Given the description of an element on the screen output the (x, y) to click on. 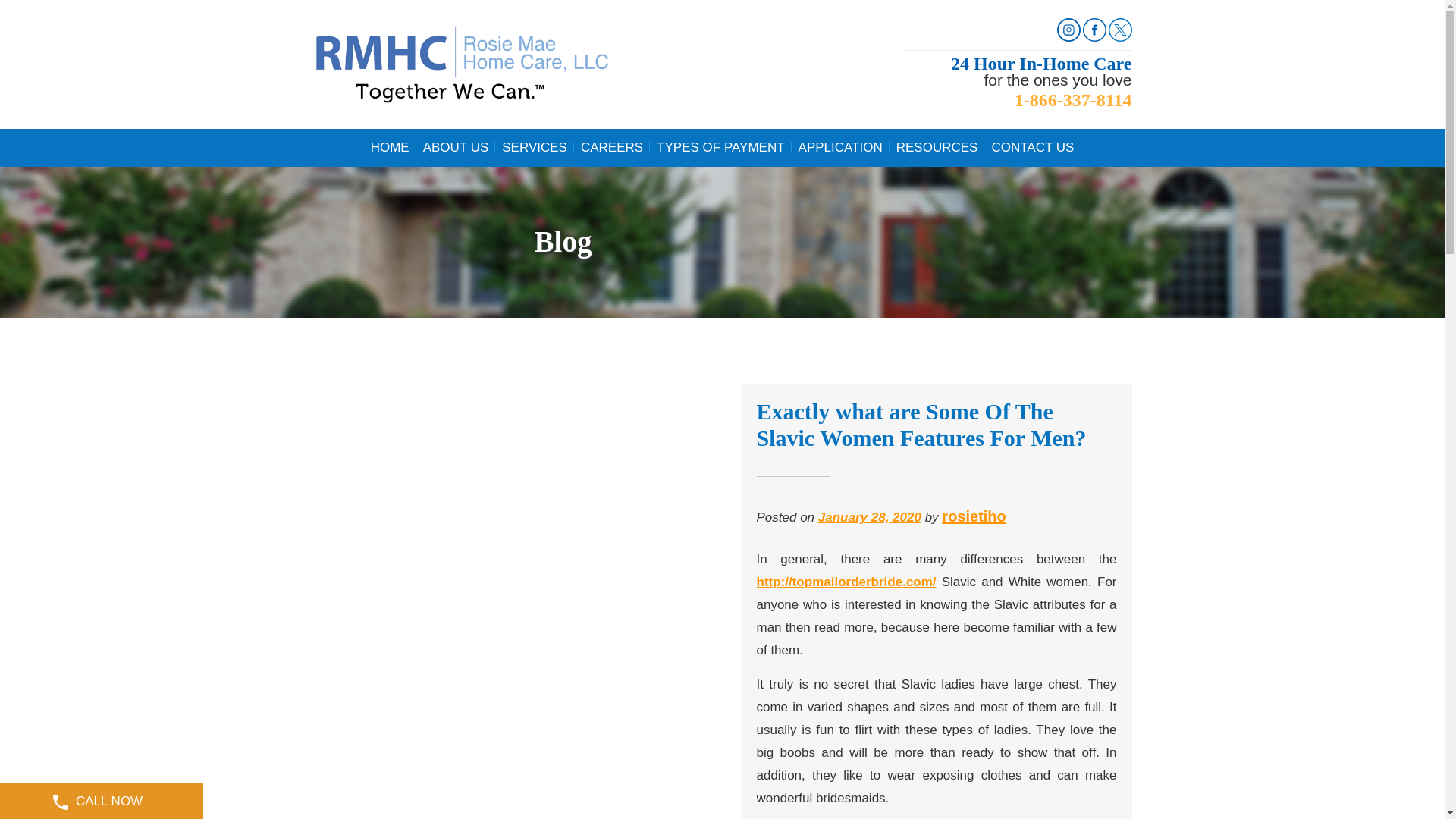
CAREERS (611, 147)
12:00 am (869, 517)
HOME (390, 147)
rosietiho (974, 515)
January 28, 2020 (869, 517)
View all posts by rosietiho (974, 515)
CONTACT US (1032, 147)
TYPES OF PAYMENT (719, 147)
APPLICATION (840, 147)
SERVICES (534, 147)
ABOUT US (456, 147)
CALL NOW (101, 800)
RESOURCES (937, 147)
